Given the description of an element on the screen output the (x, y) to click on. 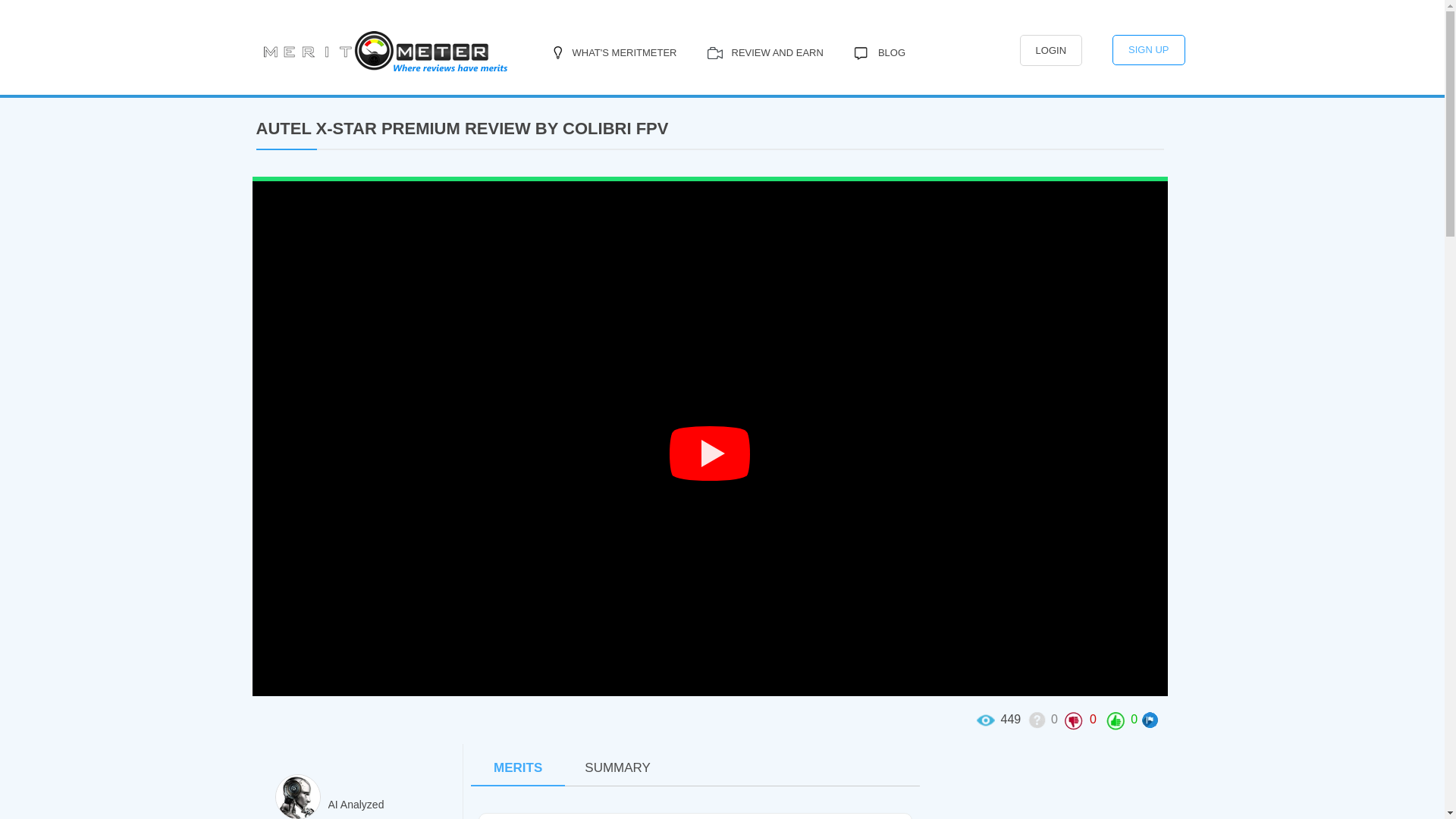
Report review (1151, 720)
REVIEW AND EARN (765, 53)
LOGIN (1050, 50)
SUMMARY (617, 767)
0 (1041, 718)
SIGN UP (1148, 50)
0 (1120, 718)
Vote Down (1073, 720)
WHAT'S MERITMETER (612, 53)
Vote Up (1114, 720)
